Given the description of an element on the screen output the (x, y) to click on. 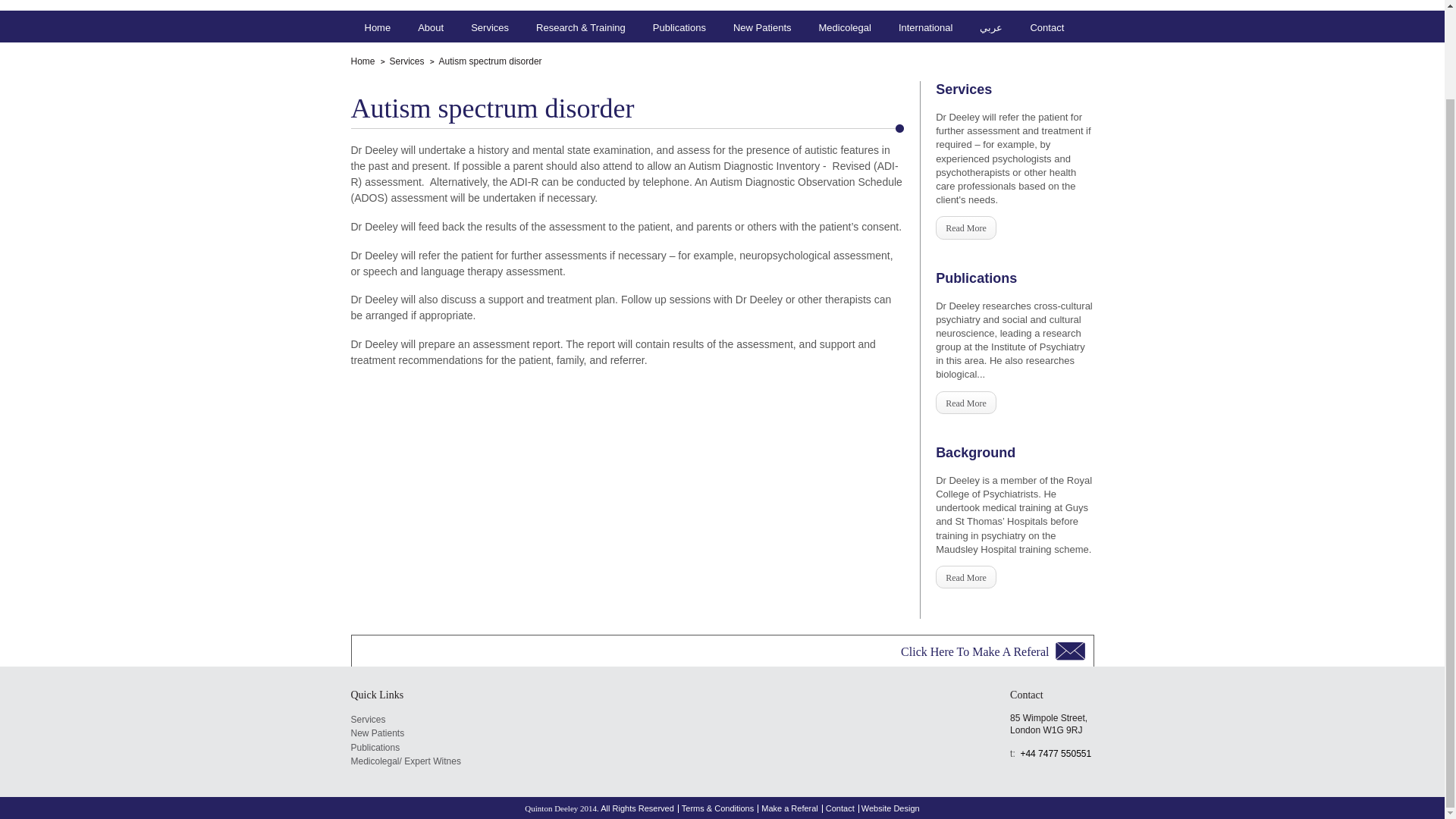
Read More (965, 576)
Contact (1046, 25)
New Patients (762, 25)
Read More (965, 402)
New Patients (405, 733)
About (430, 25)
Home (377, 25)
Services (405, 719)
Autism spectrum disorder (485, 61)
International (925, 25)
Click Here To Make A Referal (992, 650)
Services (402, 61)
Publications (679, 25)
Services (489, 25)
Website Design (890, 808)
